Given the description of an element on the screen output the (x, y) to click on. 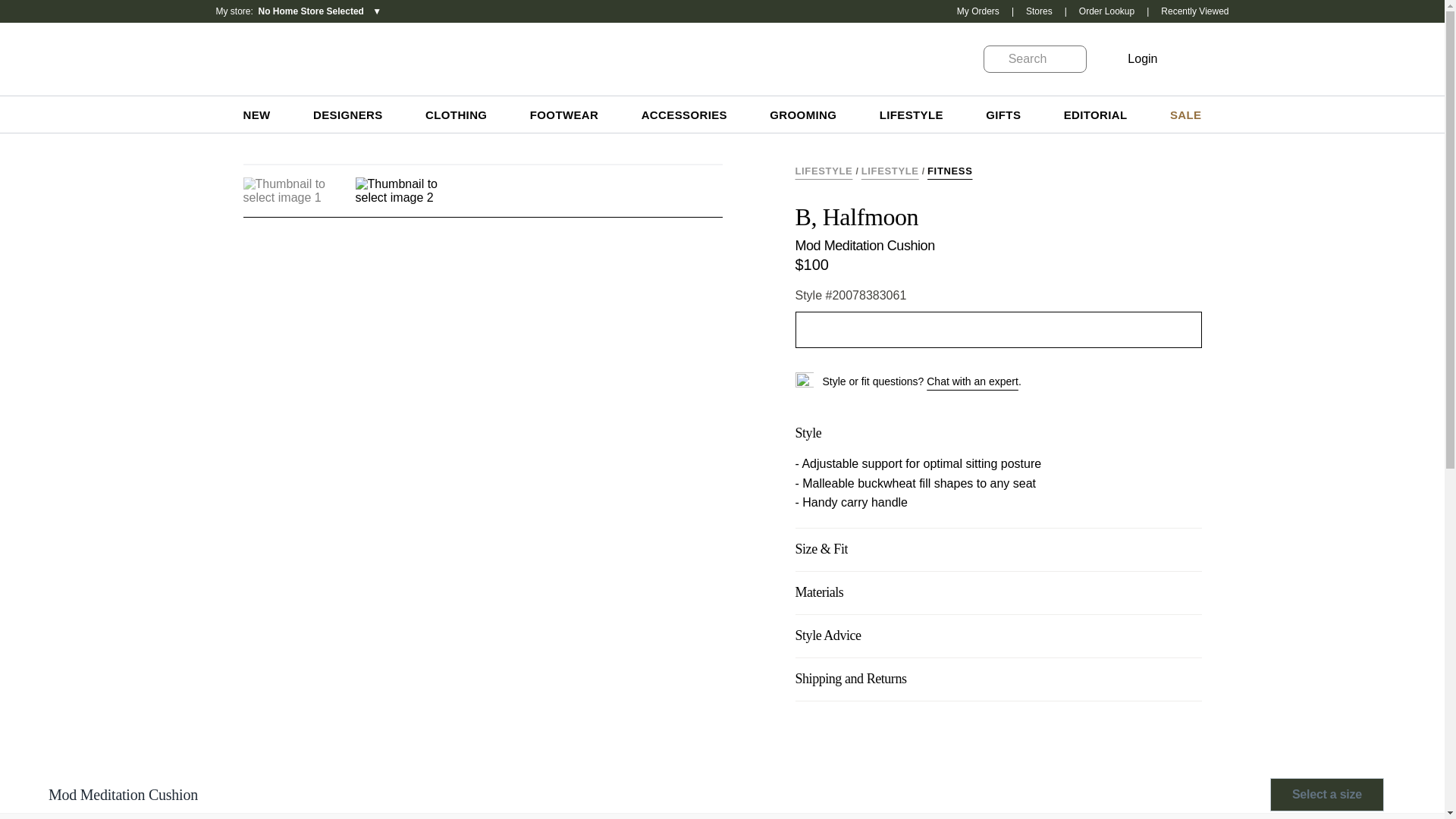
My Orders (977, 10)
Thumbnail to select image 2 (403, 190)
Thumbnail to select image 1 (291, 190)
Open wishlist (1182, 58)
Order Lookup (290, 10)
DESIGNERS (1106, 10)
Open wishlist (347, 114)
Skip to content (1182, 58)
